Given the description of an element on the screen output the (x, y) to click on. 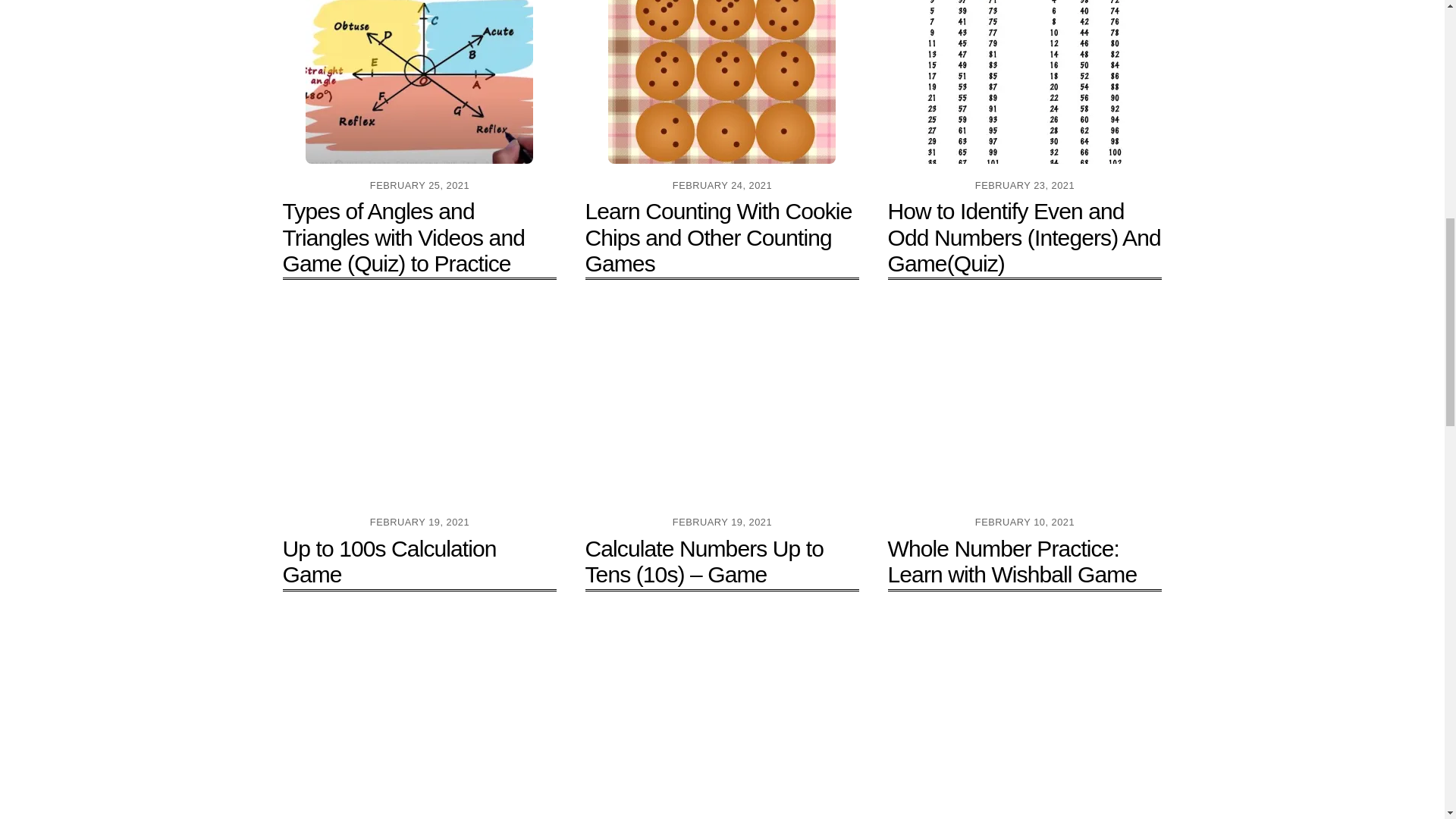
odd and even number-min (1024, 81)
learn number 10 (721, 405)
angles and triangles (418, 81)
wishball fraction (1024, 405)
Whole Number Practice: Learn with Wishball Game (1012, 561)
cookie chips (721, 81)
cake fraction (418, 717)
100s (418, 405)
Cone Crazy Div (721, 717)
Learn Counting With Cookie Chips and Other Counting Games (718, 237)
